Given the description of an element on the screen output the (x, y) to click on. 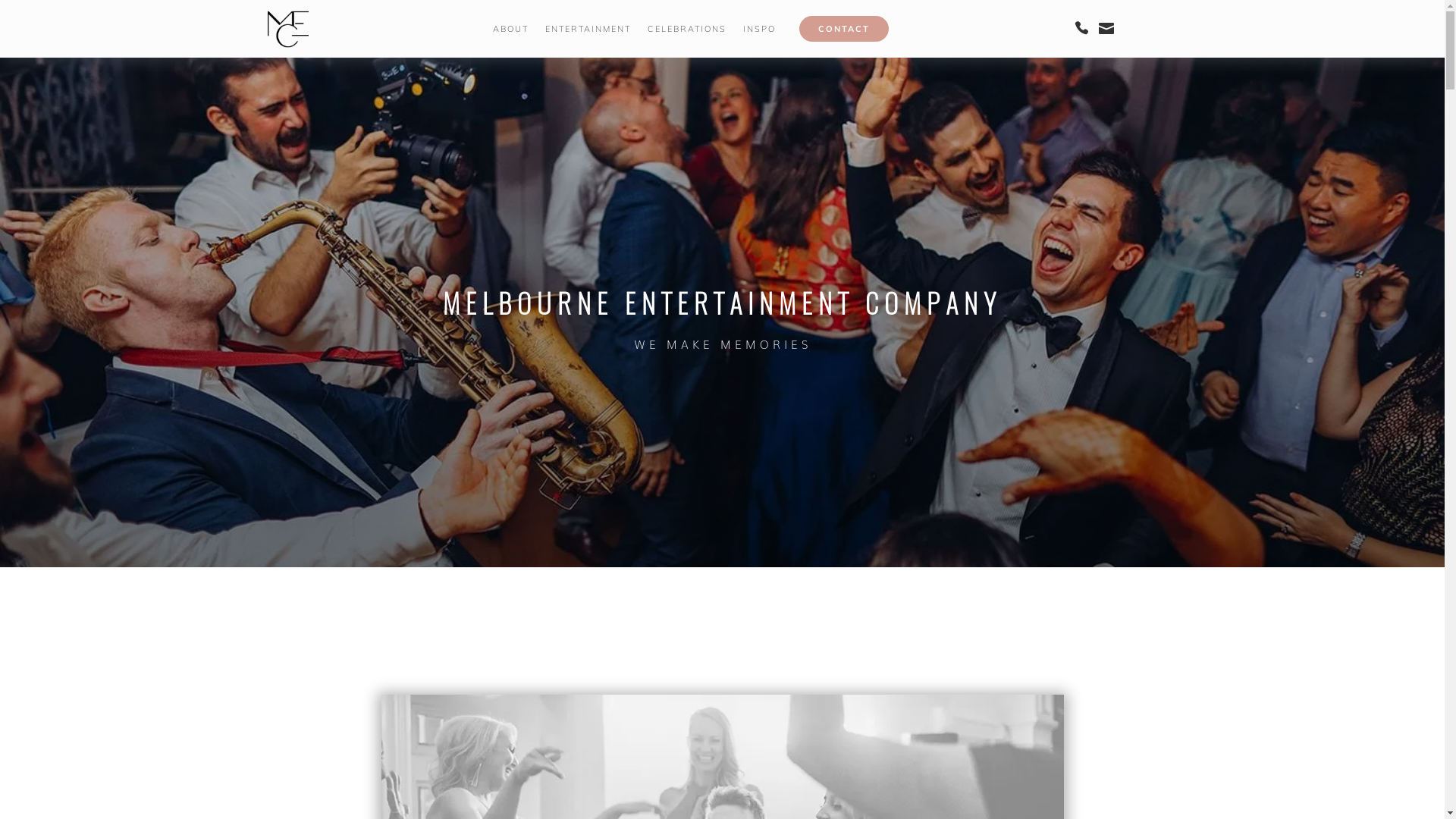
mec_logo_1 Element type: hover (286, 28)
ABOUT Element type: text (510, 28)
INSPO Element type: text (759, 28)
ENTERTAINMENT Element type: text (587, 28)
CELEBRATIONS Element type: text (686, 28)
CONTACT Element type: text (843, 28)
